Given the description of an element on the screen output the (x, y) to click on. 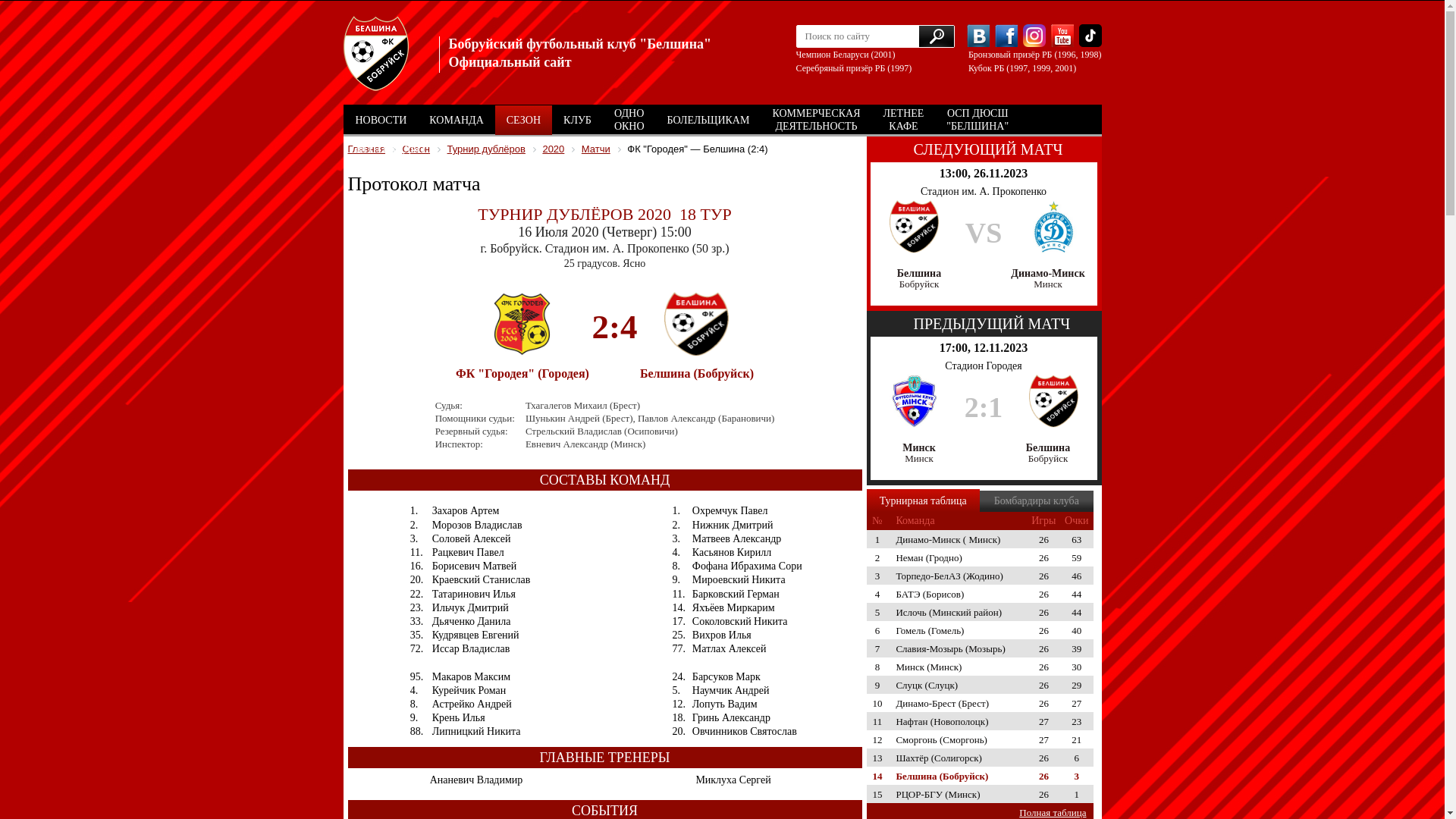
Youtube Element type: hover (1062, 35)
Facebook Element type: hover (1005, 35)
Instagram Element type: hover (1033, 35)
2020 Element type: text (553, 148)
